Given the description of an element on the screen output the (x, y) to click on. 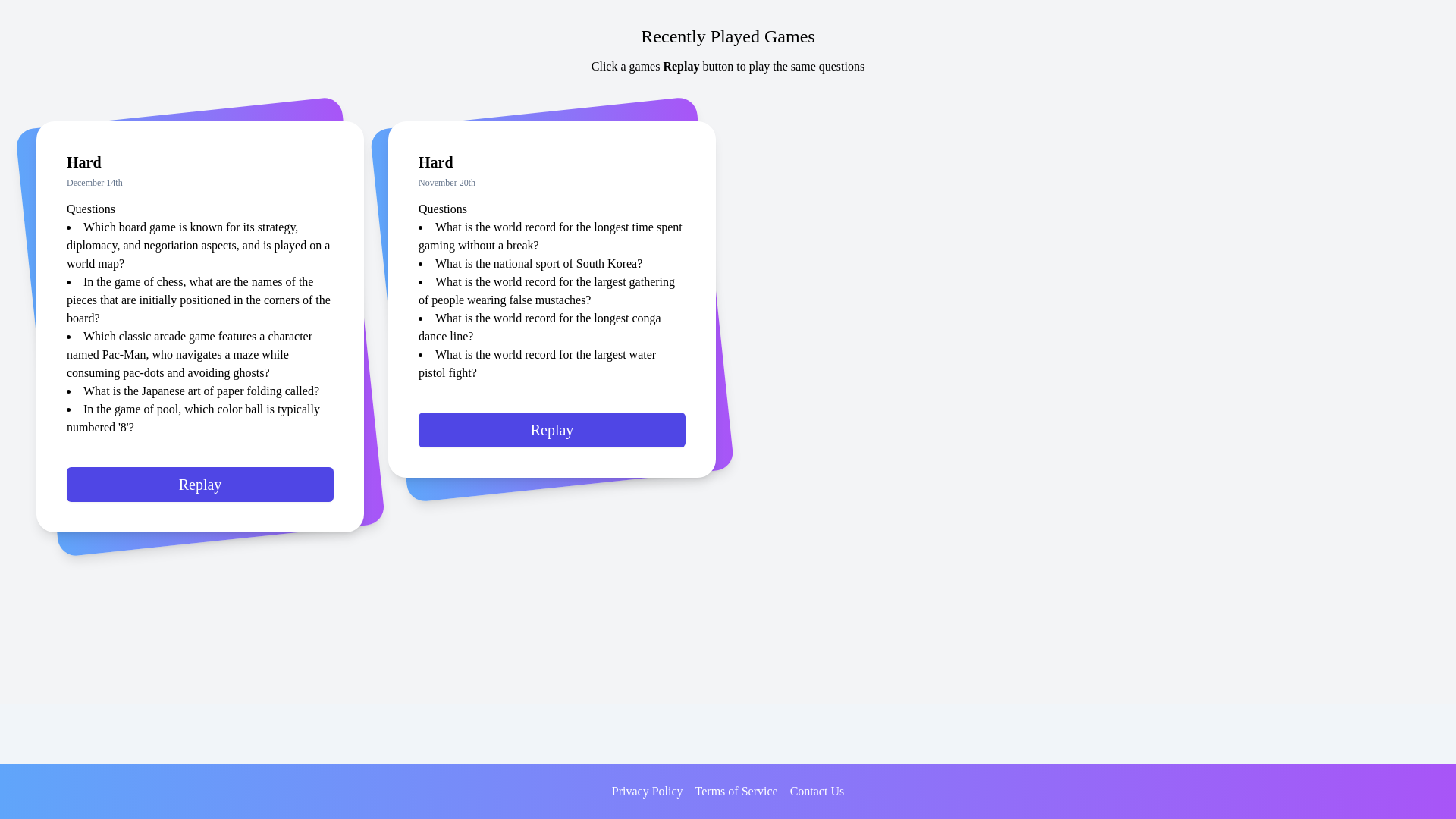
Contact Us (817, 791)
Replay (199, 492)
Privacy Policy (646, 791)
Replay (552, 436)
Terms of Service (736, 791)
